Given the description of an element on the screen output the (x, y) to click on. 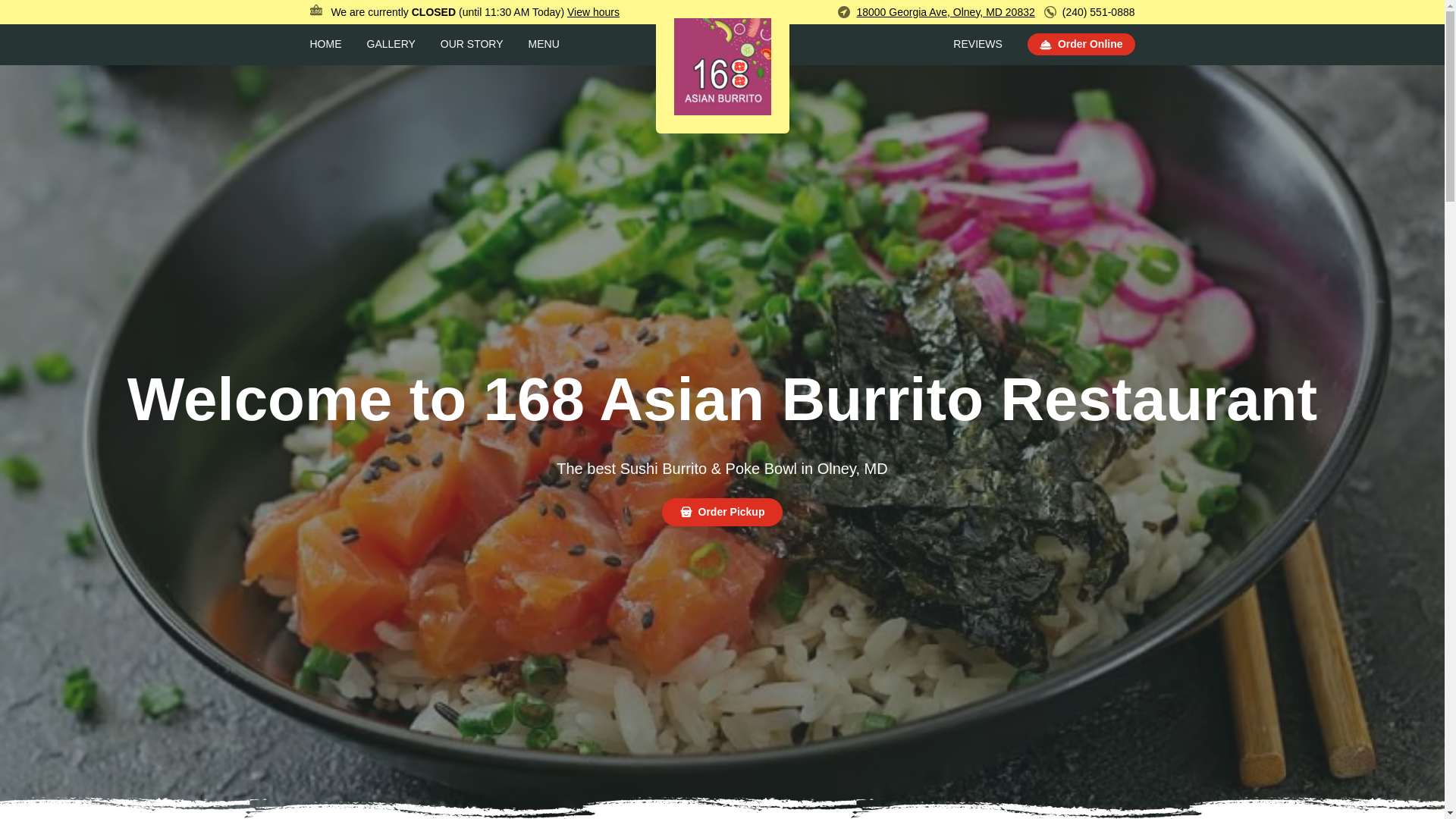
GALLERY Element type: text (391, 43)
OUR STORY Element type: text (471, 43)
tools-kitchen-serving-dome
Order Online Element type: text (1081, 44)
HOME Element type: text (325, 43)
18000 Georgia Ave, Olney, MD 20832 Element type: text (945, 12)
shopping-basket-smile-1
Order Pickup Element type: text (722, 513)
REVIEWS Element type: text (977, 43)
shopping-basket-smile-1
Order Pickup Element type: text (722, 511)
MENU Element type: text (543, 43)
tools-kitchen-serving-dome
Order Online Element type: text (1081, 45)
View hours Element type: text (593, 12)
